Given the description of an element on the screen output the (x, y) to click on. 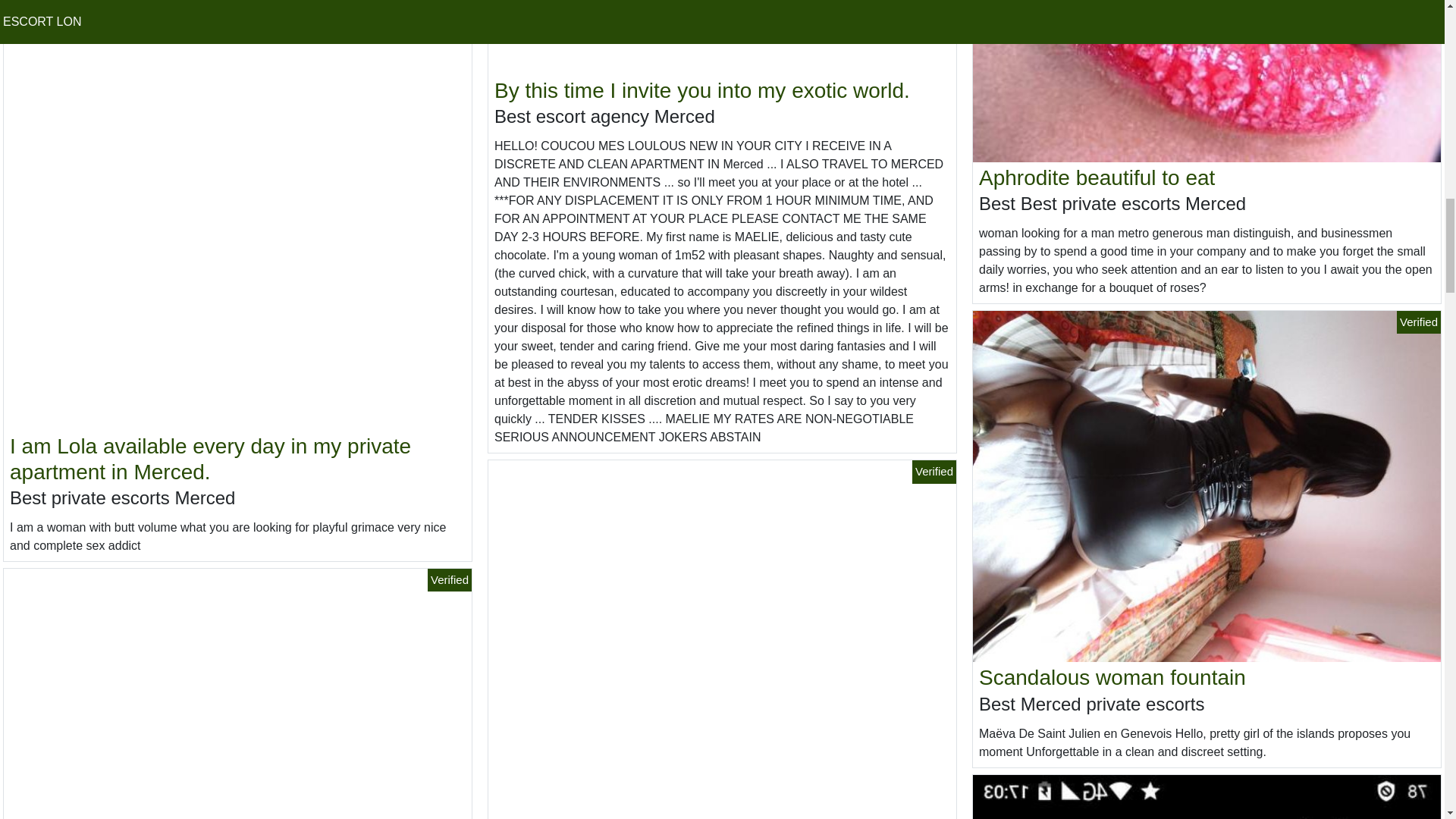
By this time I invite you into my exotic world. (702, 90)
